Given the description of an element on the screen output the (x, y) to click on. 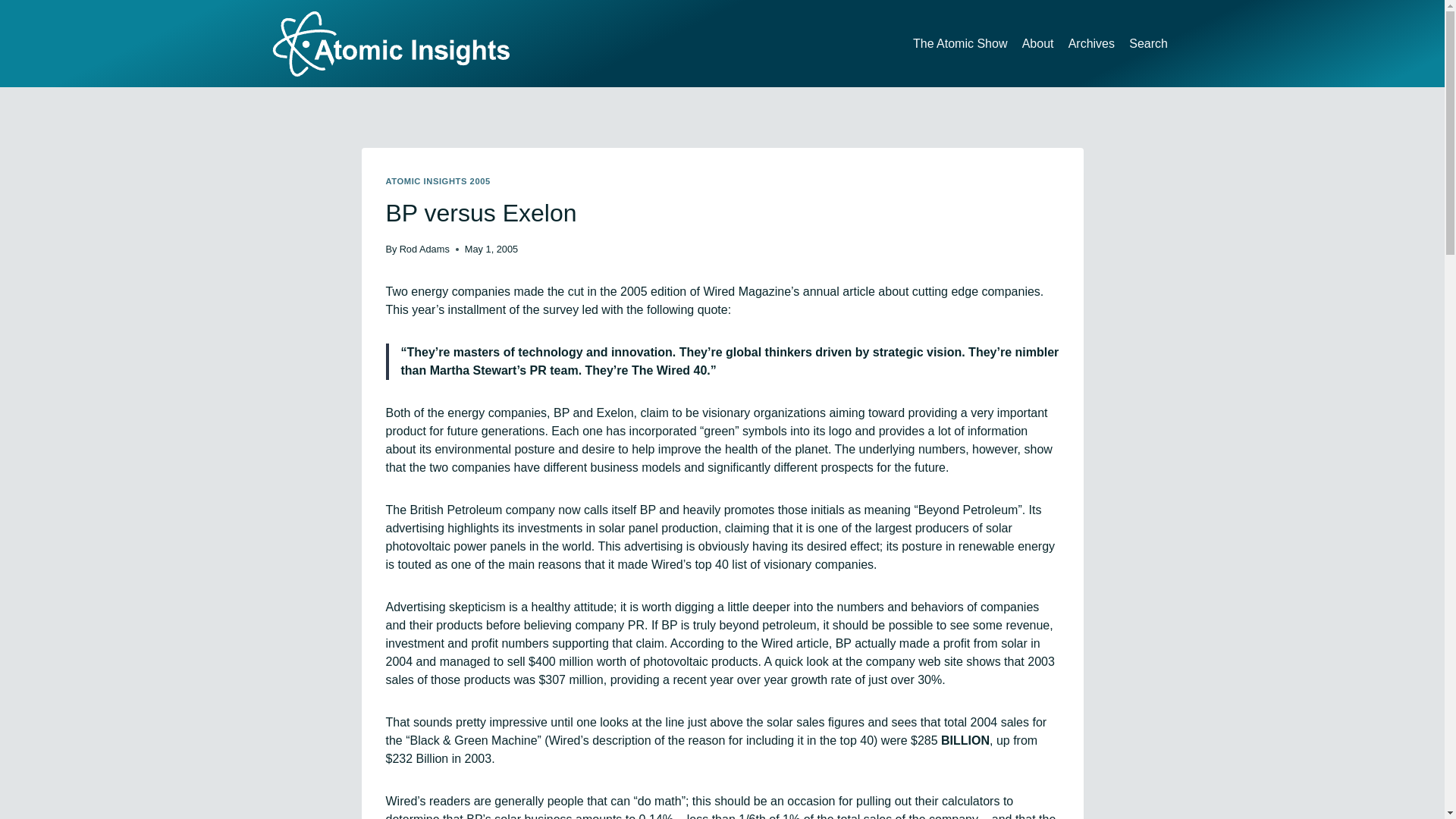
ATOMIC INSIGHTS 2005 (437, 180)
Search (1148, 43)
About (1037, 43)
The Atomic Show (959, 43)
The Atomic Show Podcast (959, 43)
Rod Adams (423, 248)
Archives (1091, 43)
Atomic Insights Archives (1091, 43)
Search Atomic Insights (1148, 43)
About Atomic Insights (1037, 43)
